Given the description of an element on the screen output the (x, y) to click on. 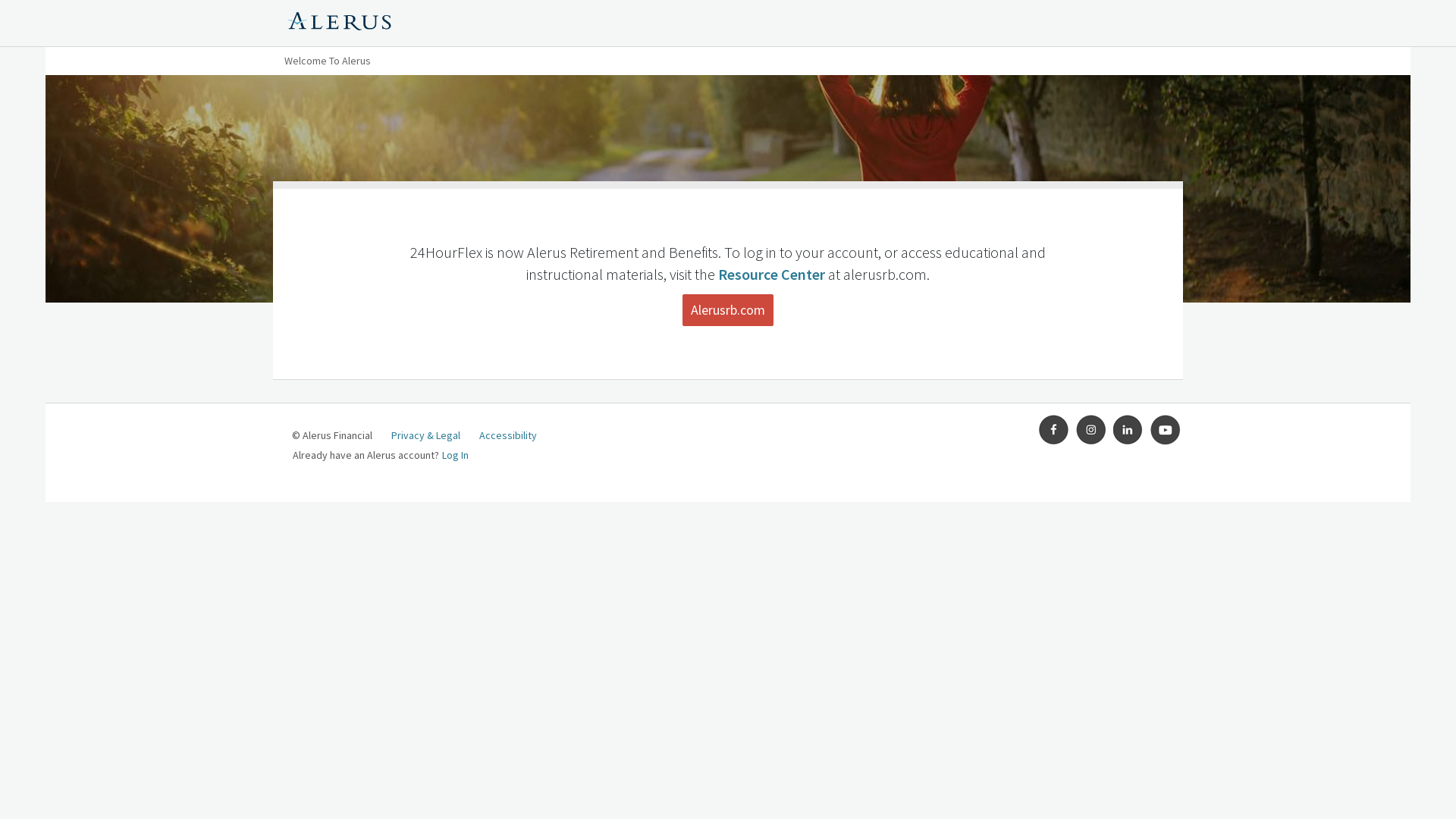
Instagram Element type: text (1091, 429)
Privacy & Legal Element type: text (425, 435)
Youtube Element type: text (1165, 429)
LinkedIn Element type: text (1128, 429)
Accessibility Element type: text (507, 435)
Log In Element type: text (455, 454)
Alerus Financial Logo Element type: text (339, 23)
Alerusrb.com Element type: text (727, 310)
Resource Center Element type: text (771, 273)
Facebook Element type: text (1053, 429)
